Given the description of an element on the screen output the (x, y) to click on. 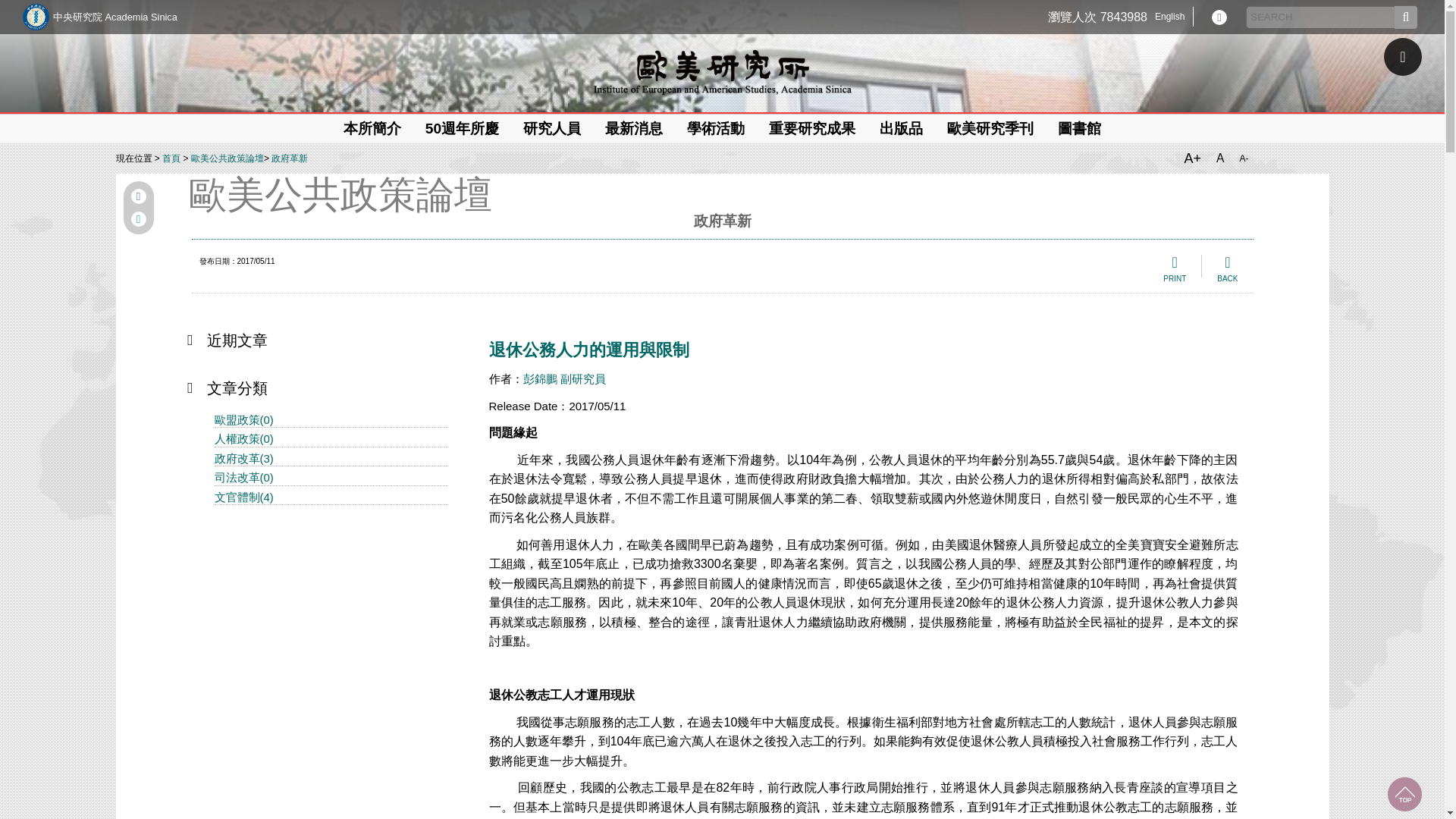
English (1176, 17)
Home (1219, 17)
SEARCH (1321, 16)
